Given the description of an element on the screen output the (x, y) to click on. 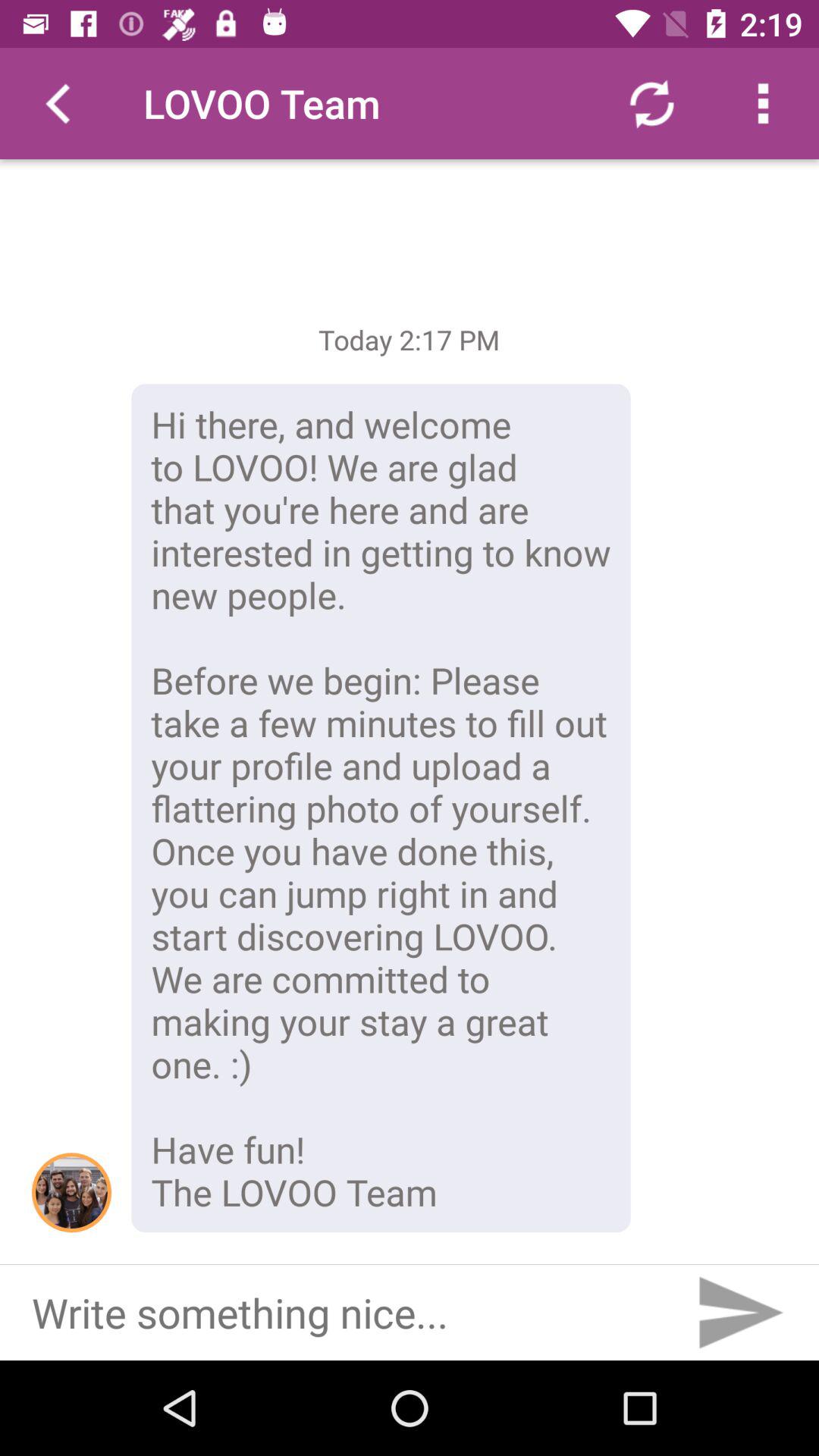
write something (340, 1312)
